Given the description of an element on the screen output the (x, y) to click on. 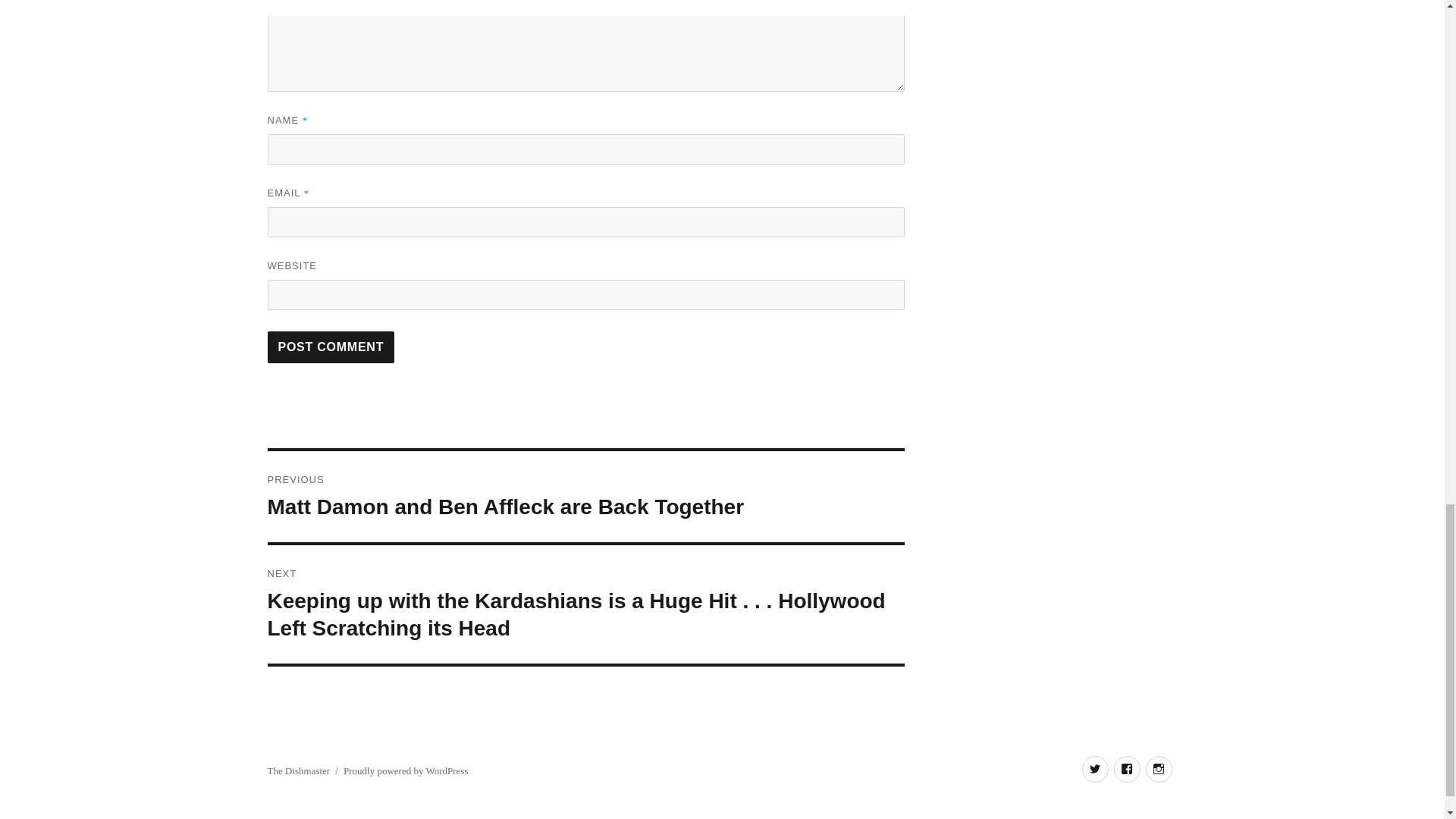
Post Comment (330, 347)
Post Comment (330, 347)
